Given the description of an element on the screen output the (x, y) to click on. 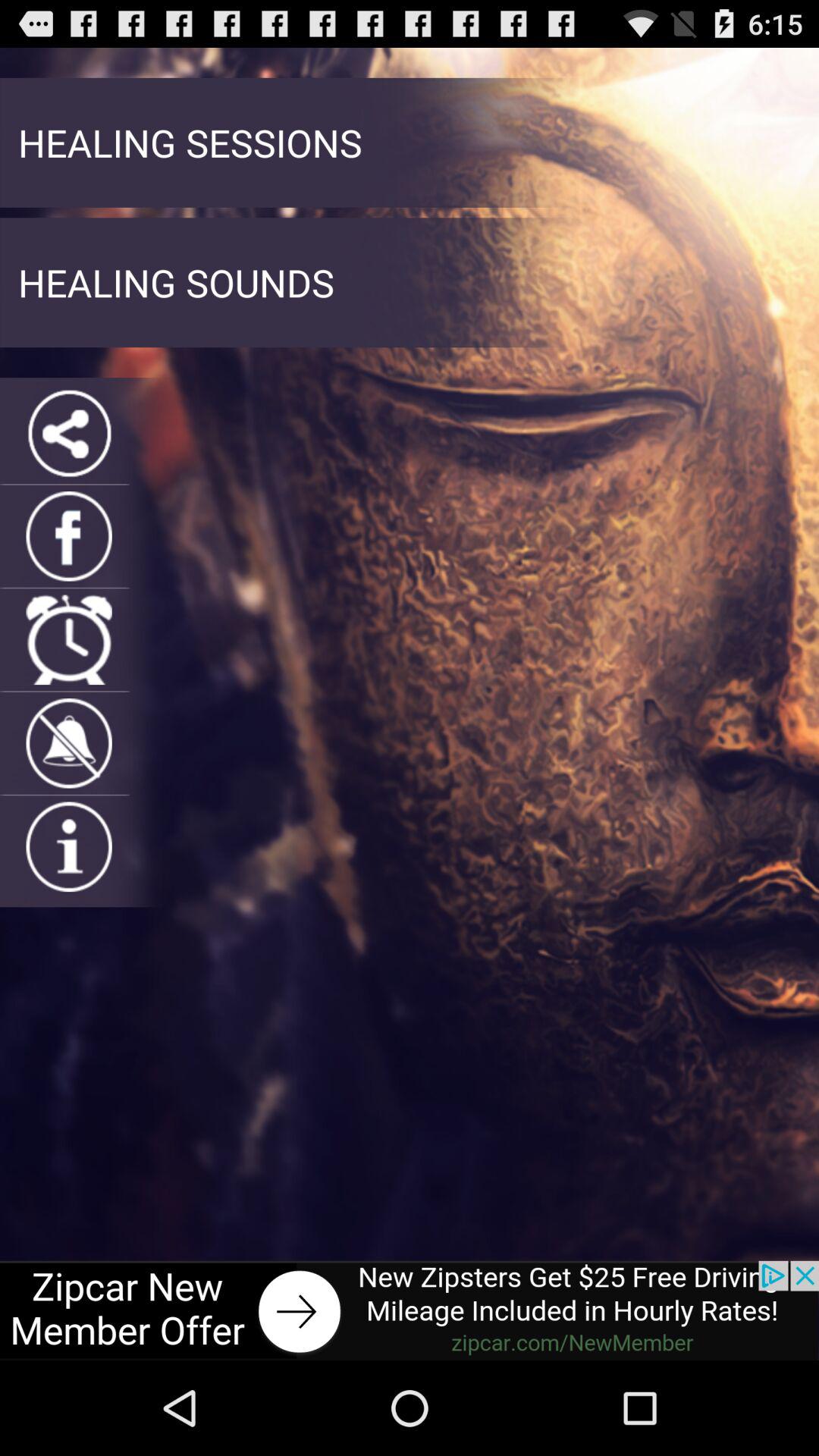
go to faebook (69, 536)
